Given the description of an element on the screen output the (x, y) to click on. 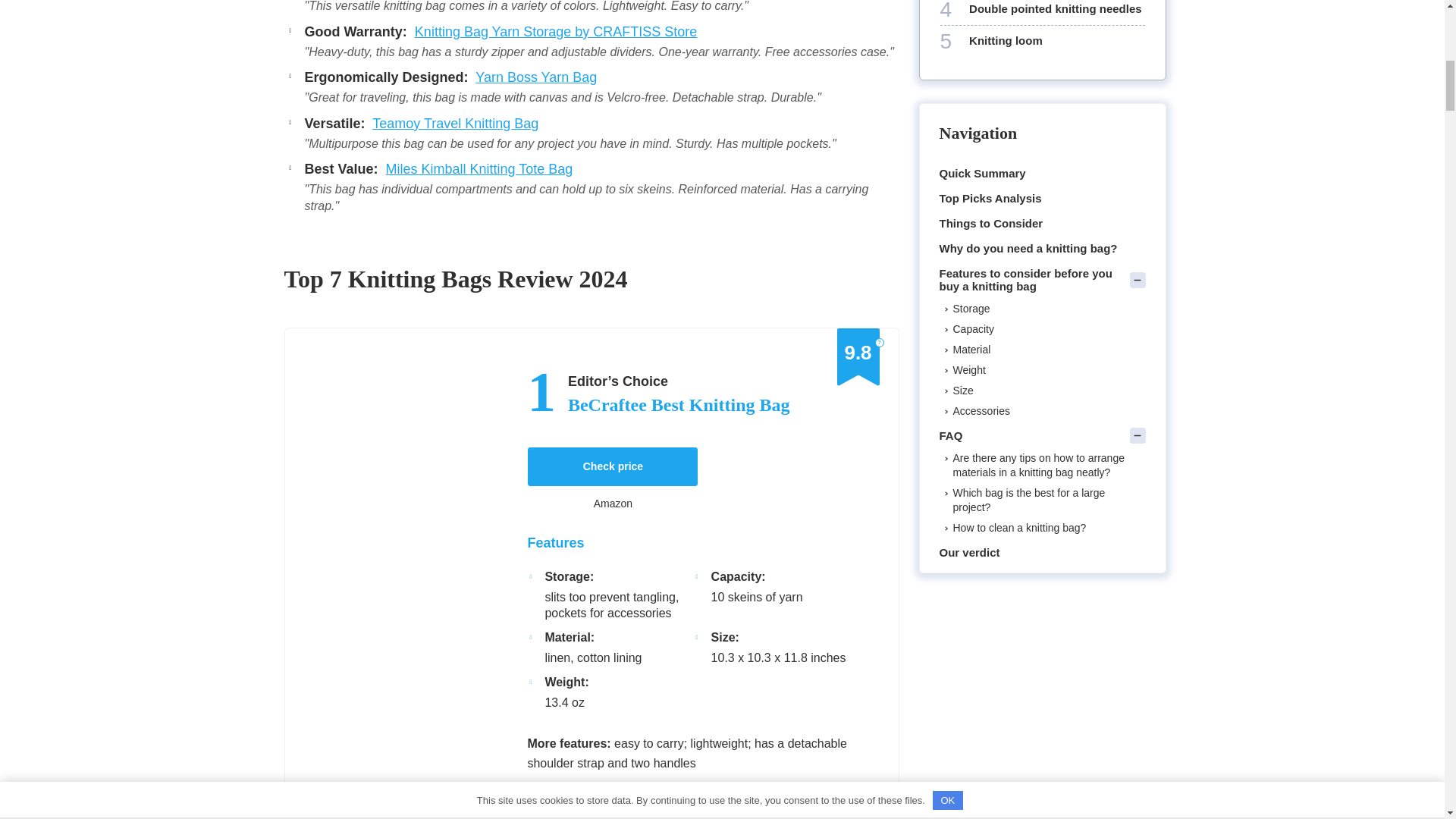
Knitting Bag Yarn Storage by CRAFTISS Store (555, 31)
